Given the description of an element on the screen output the (x, y) to click on. 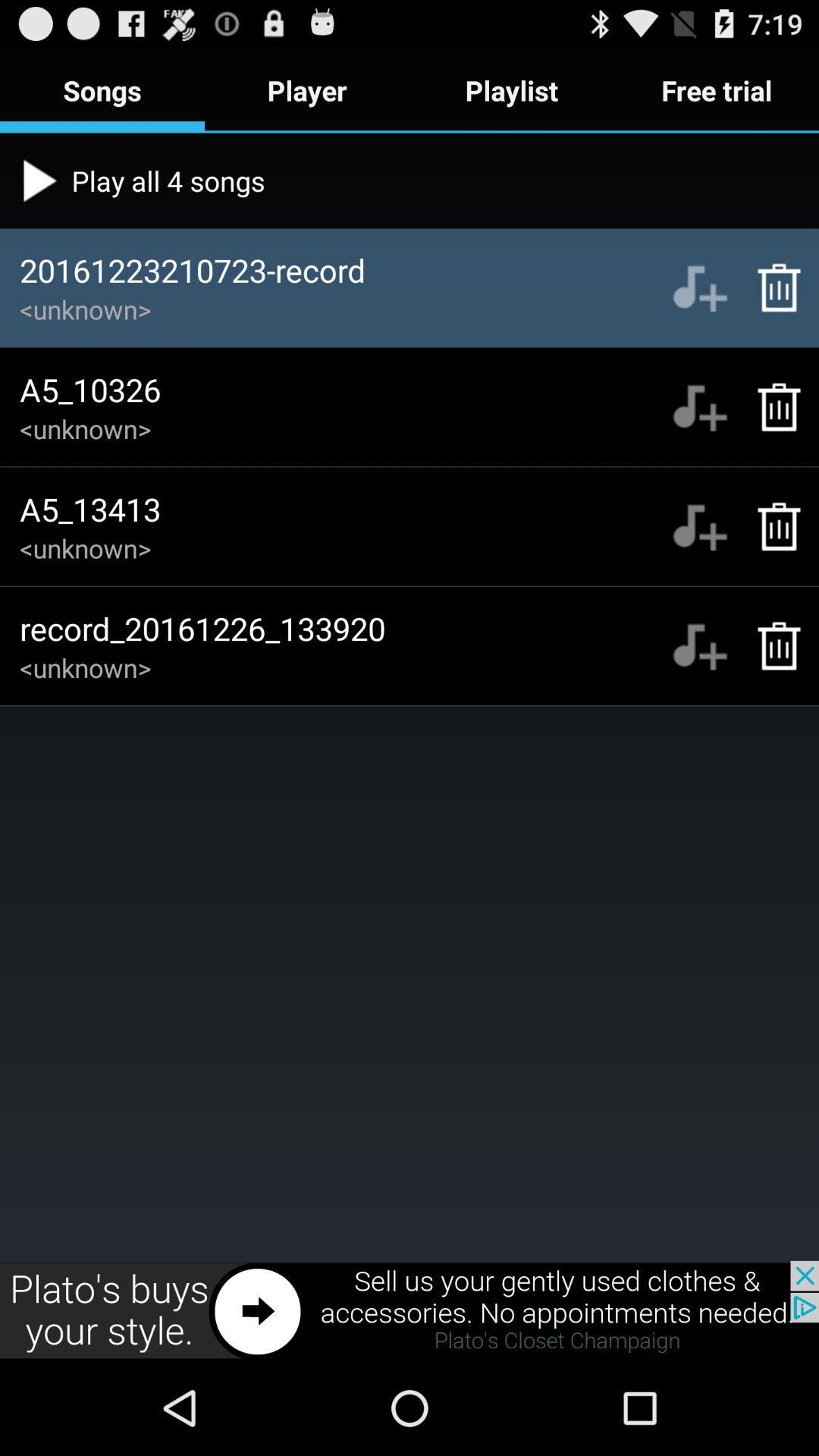
add to playlist (699, 645)
